Given the description of an element on the screen output the (x, y) to click on. 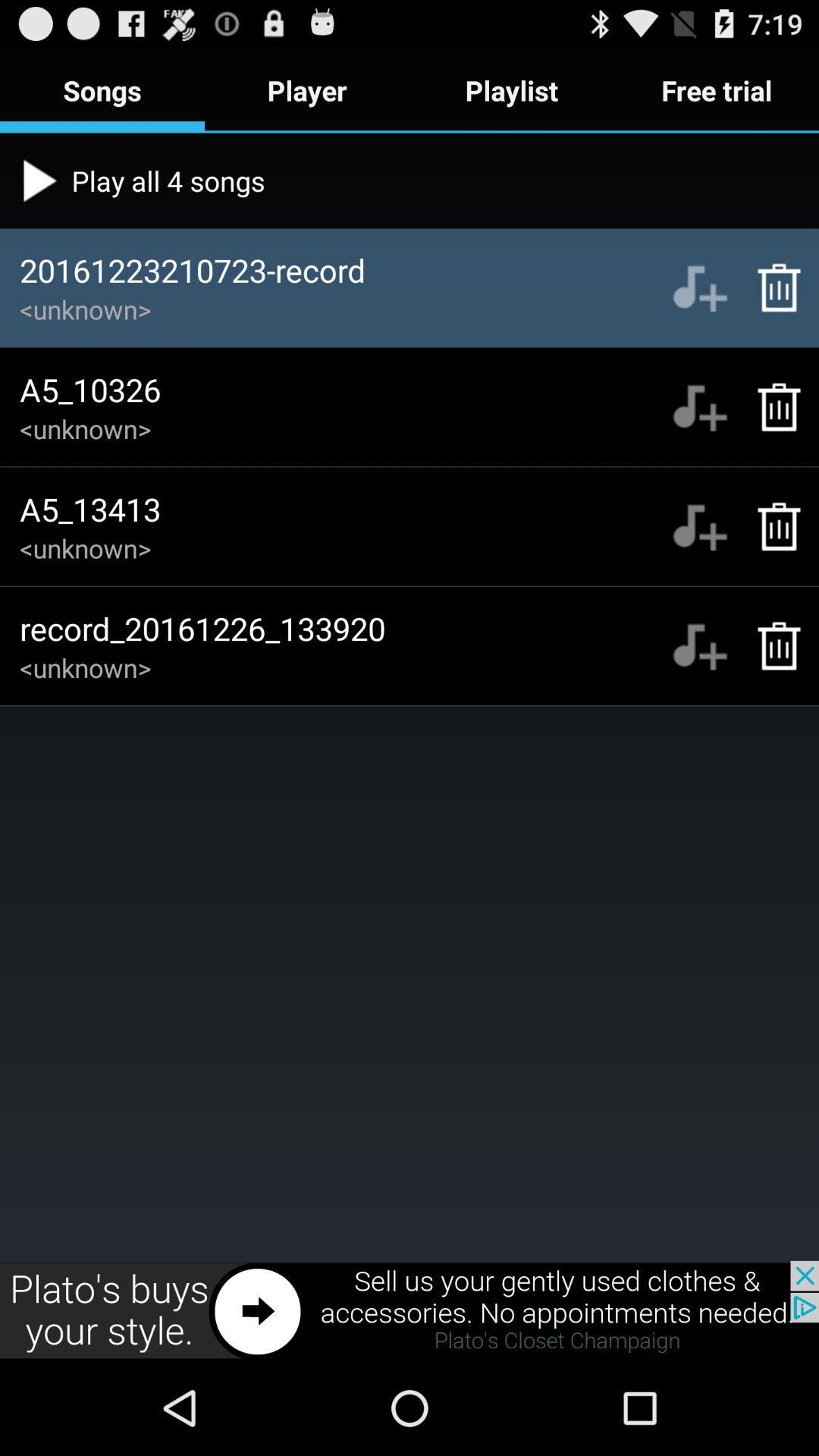
add to playlist (699, 645)
